Given the description of an element on the screen output the (x, y) to click on. 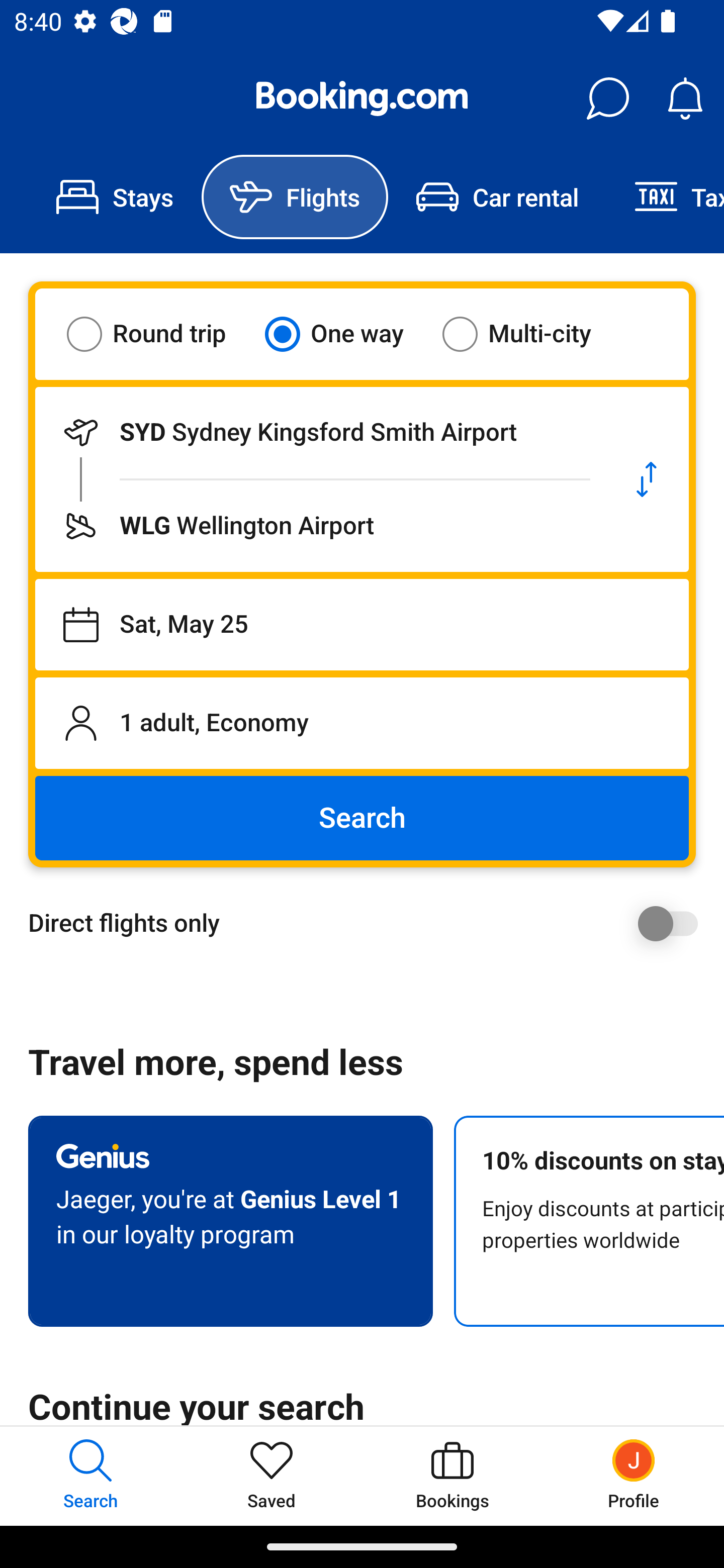
Messages (607, 98)
Notifications (685, 98)
Stays (114, 197)
Flights (294, 197)
Car rental (497, 197)
Taxi (665, 197)
Round trip (158, 333)
Multi-city (528, 333)
Departing from SYD Sydney Kingsford Smith Airport (319, 432)
Swap departure location and destination (646, 479)
Flying to WLG Wellington Airport (319, 525)
Departing on Sat, May 25 (361, 624)
1 adult, Economy (361, 722)
Search (361, 818)
Direct flights only (369, 923)
Saved (271, 1475)
Bookings (452, 1475)
Profile (633, 1475)
